Given the description of an element on the screen output the (x, y) to click on. 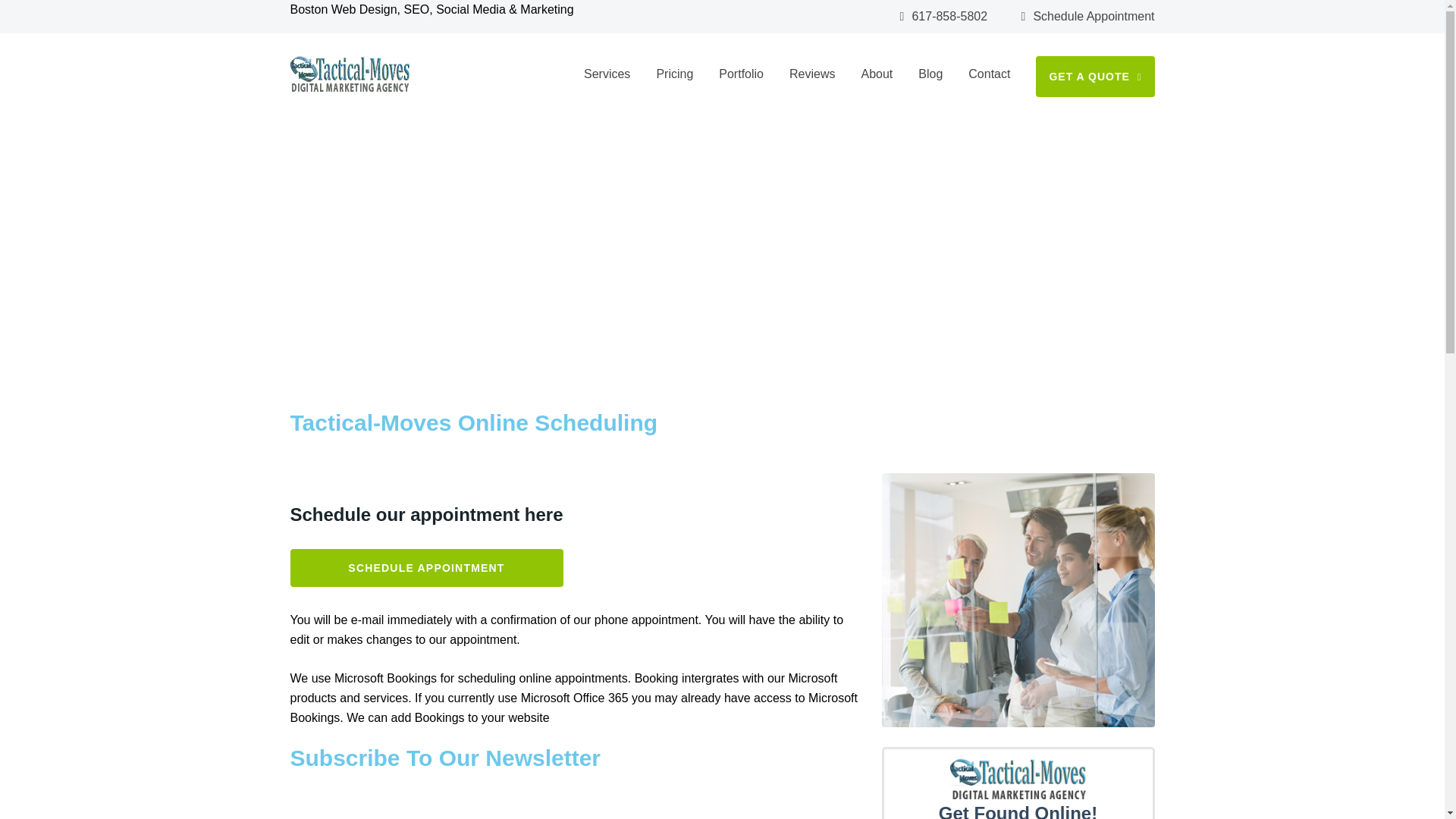
About (876, 74)
Reviews (811, 74)
Schedule Appointment (1088, 16)
Services (606, 74)
SCHEDULE APPOINTMENT (378, 316)
617-858-5802 (943, 16)
Pricing (674, 74)
Portfolio (740, 74)
